Given the description of an element on the screen output the (x, y) to click on. 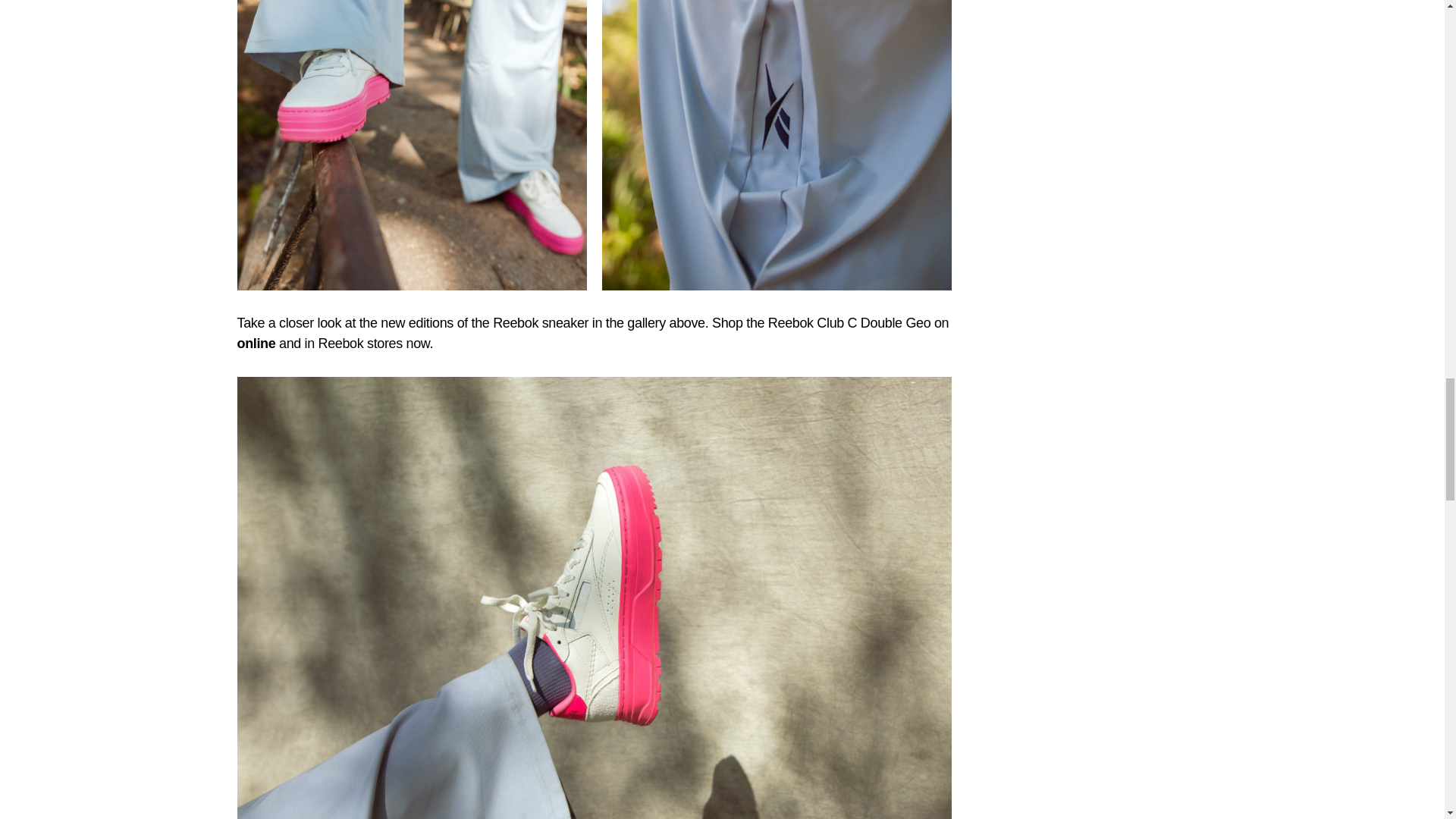
online (255, 343)
